Given the description of an element on the screen output the (x, y) to click on. 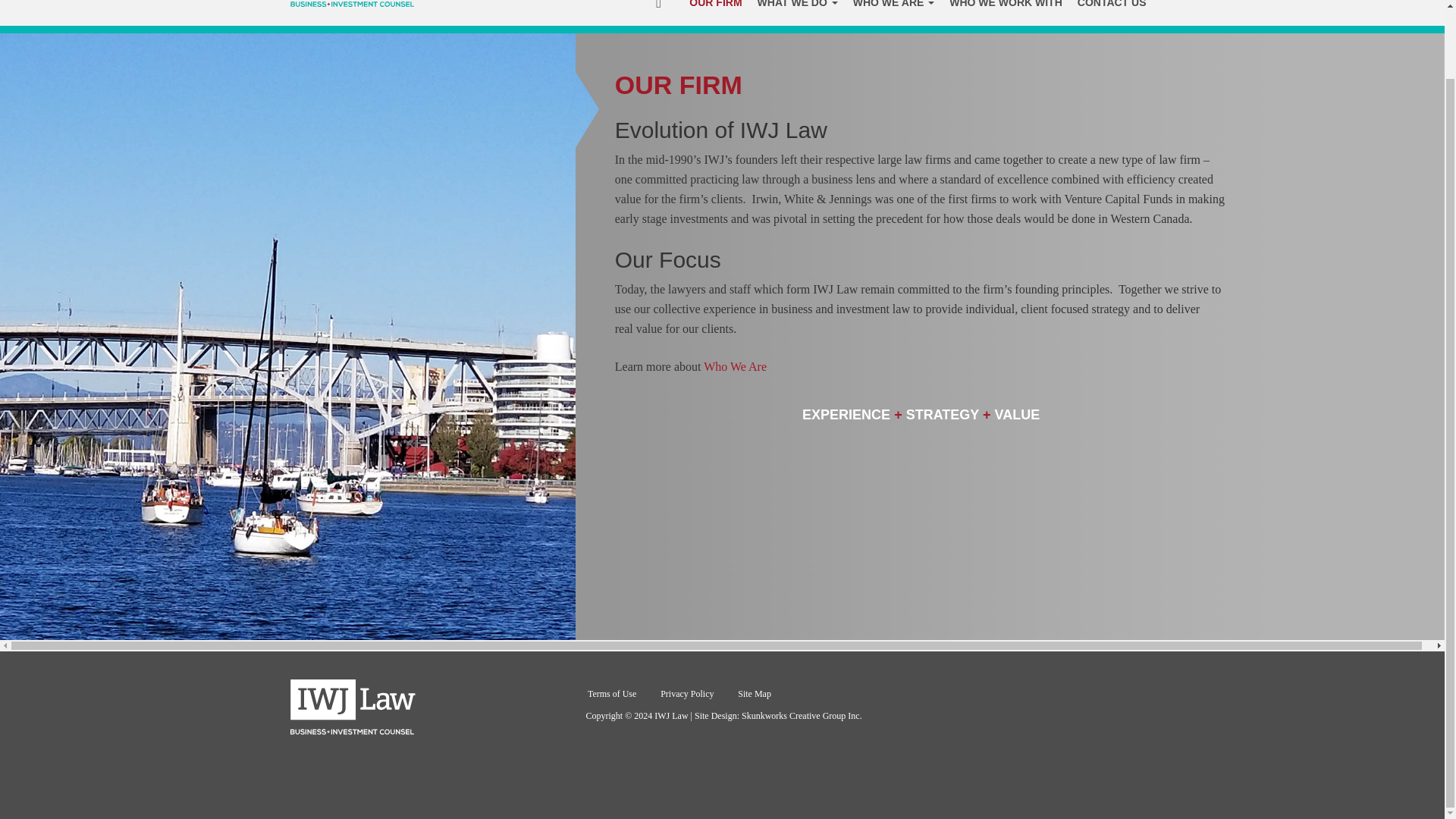
CONTACT US (1112, 12)
WHAT WE DO (797, 12)
WHO WE WORK WITH (1006, 12)
Site Map (754, 694)
OUR FIRM (715, 12)
Privacy Policy (687, 694)
IWJ Law (351, 3)
WHO WE ARE (893, 12)
Who We Are (735, 366)
Terms of Use (611, 694)
Skunkworks Creative Group Inc. (801, 715)
